Given the description of an element on the screen output the (x, y) to click on. 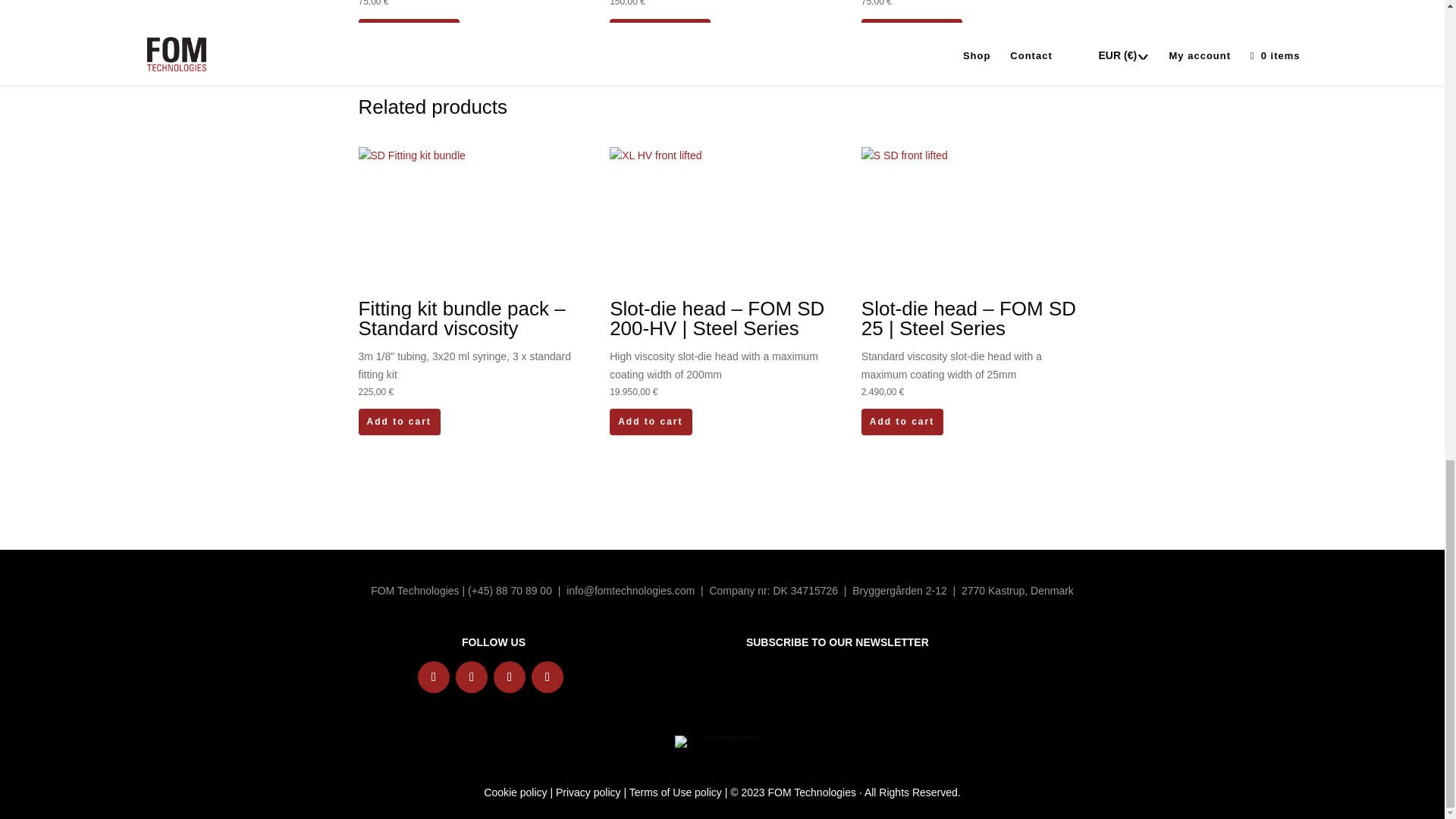
Follow on Twitter (471, 676)
Select options (660, 31)
Add to cart (902, 421)
Add to cart (398, 421)
Follow on Youtube (547, 676)
Select options (911, 31)
Follow on Facebook (509, 676)
FOM Logo 777x446 (722, 741)
Follow on LinkedIn (433, 676)
Add to cart (650, 421)
Select options (408, 31)
